Given the description of an element on the screen output the (x, y) to click on. 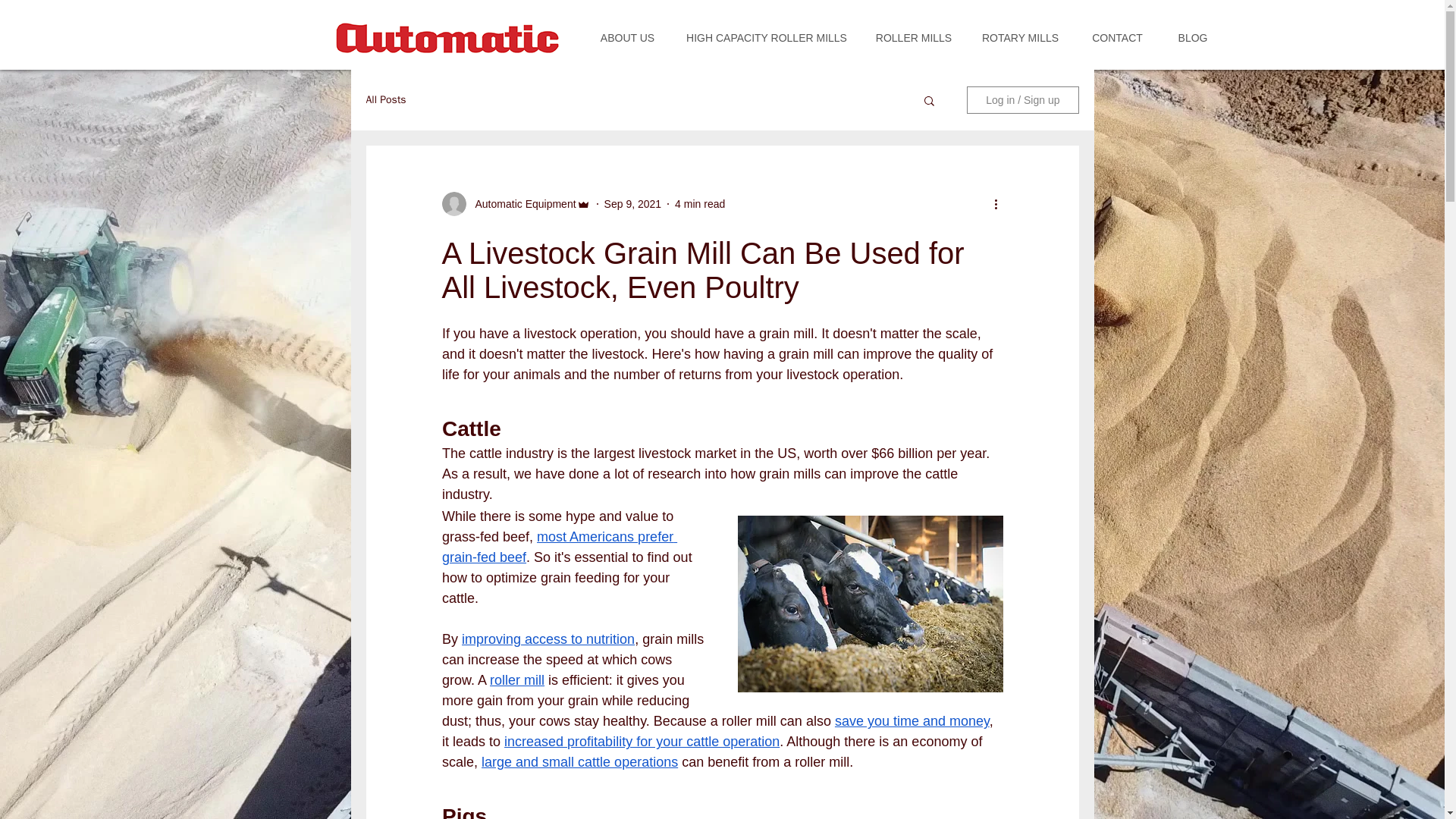
ROLLER MILLS (913, 37)
improving access to nutrition (547, 639)
CONTACT (1117, 37)
large and small cattle operations (579, 761)
4 min read (700, 203)
Automatic Equipment (520, 203)
All Posts (385, 100)
save you time and money (911, 720)
most Americans prefer grain-fed beef (559, 547)
Sep 9, 2021 (633, 203)
